Given the description of an element on the screen output the (x, y) to click on. 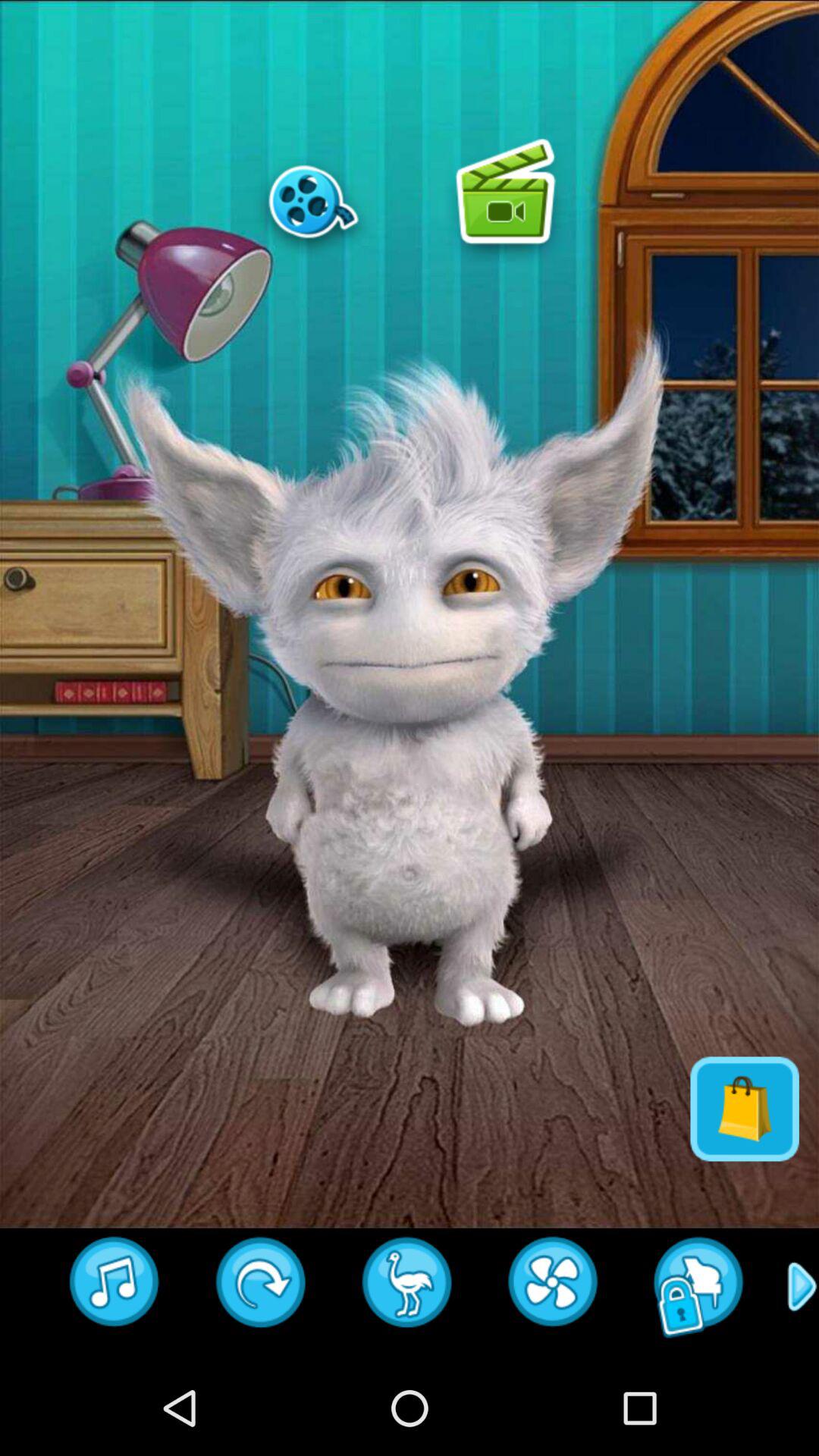
make movie (313, 200)
